Given the description of an element on the screen output the (x, y) to click on. 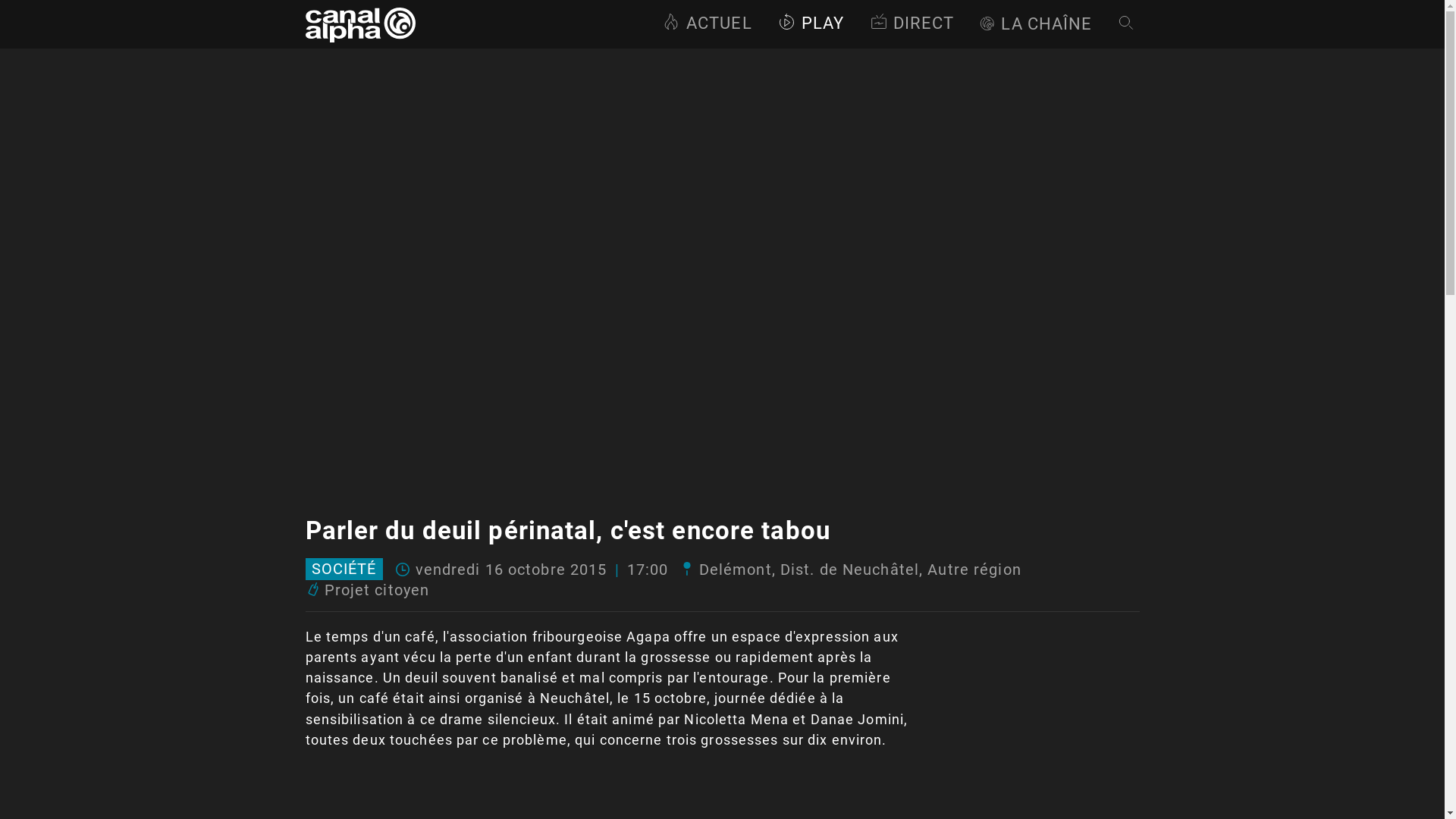
PROGRAMME DIRECT Element type: text (910, 23)
Projet citoyen Element type: text (376, 589)
ACTUEL ACTUEL Element type: text (706, 23)
PLAY_1 PLAY Element type: text (810, 23)
